Given the description of an element on the screen output the (x, y) to click on. 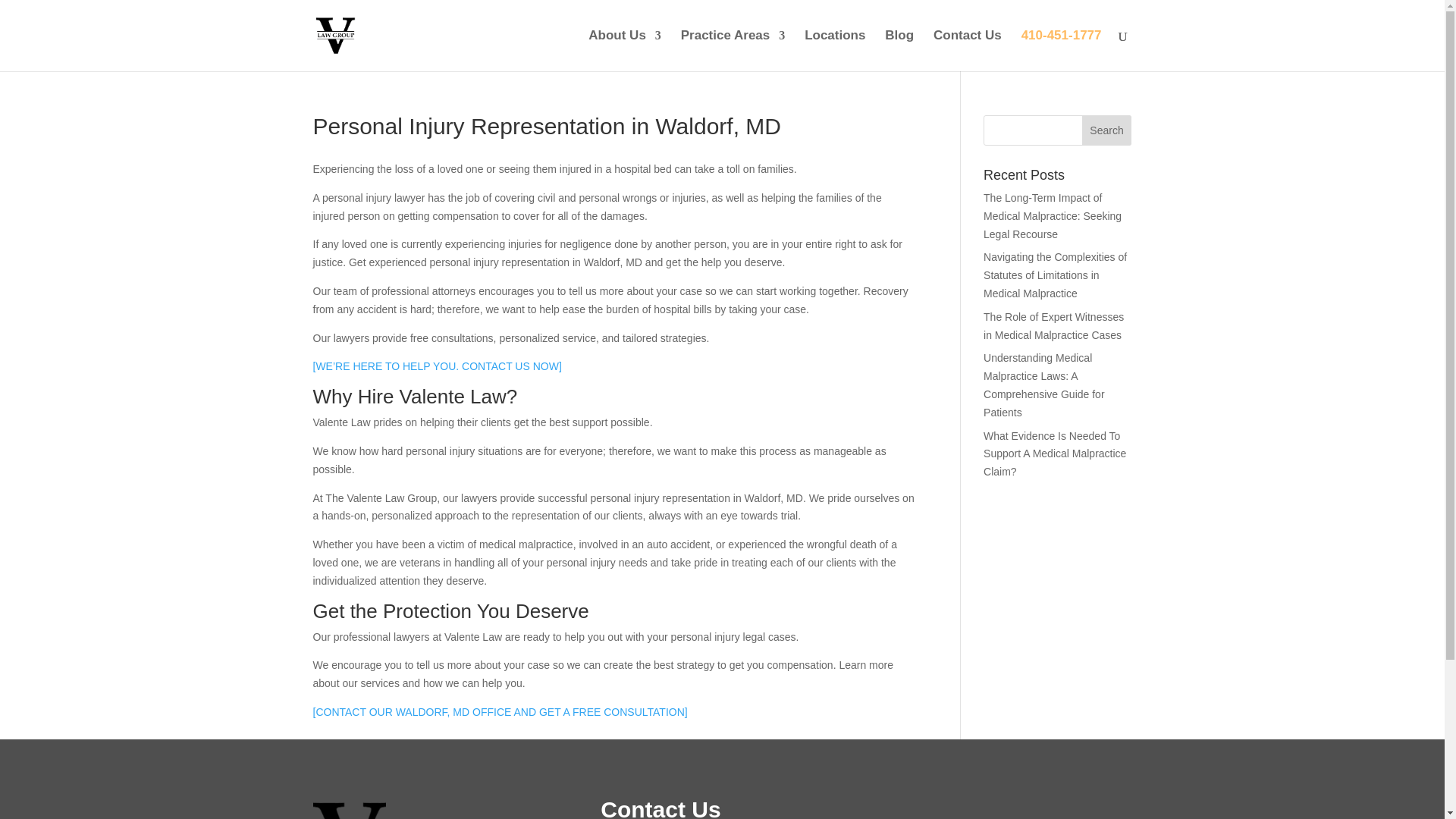
Locations (834, 50)
Search (1106, 130)
About Us (624, 50)
410-451-1777 (1062, 50)
Contact Us (967, 50)
Search (1106, 130)
Practice Areas (733, 50)
